Given the description of an element on the screen output the (x, y) to click on. 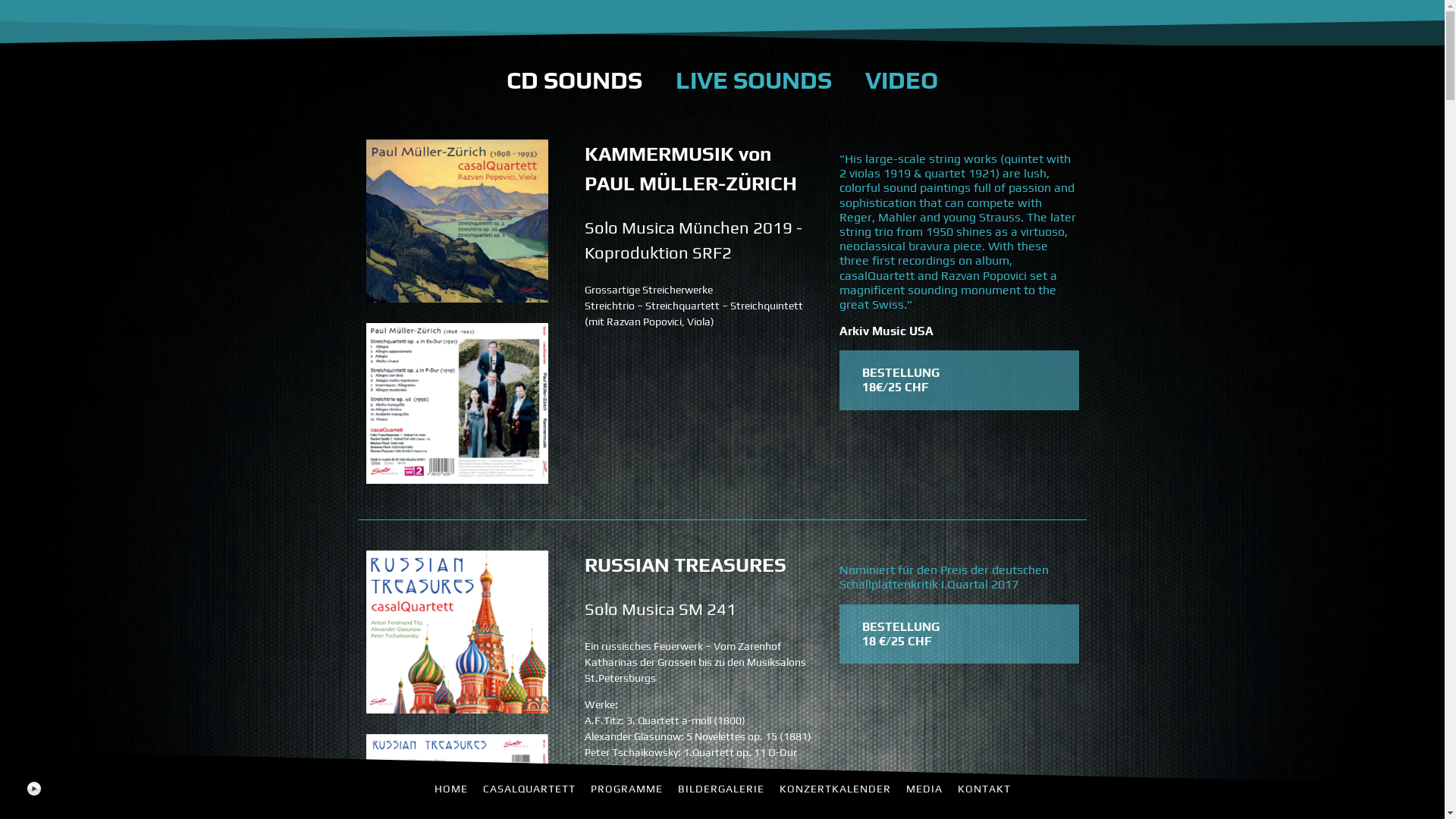
CASALQUARTETT Element type: text (528, 788)
MEDIA Element type: text (923, 788)
PROGRAMME Element type: text (625, 788)
HOME Element type: text (450, 788)
KONZERTKALENDER Element type: text (835, 788)
KONTAKT Element type: text (983, 788)
BILDERGALERIE Element type: text (720, 788)
CD SOUNDS Element type: text (574, 79)
LIVE SOUNDS Element type: text (753, 79)
VIDEO Element type: text (901, 79)
